Given the description of an element on the screen output the (x, y) to click on. 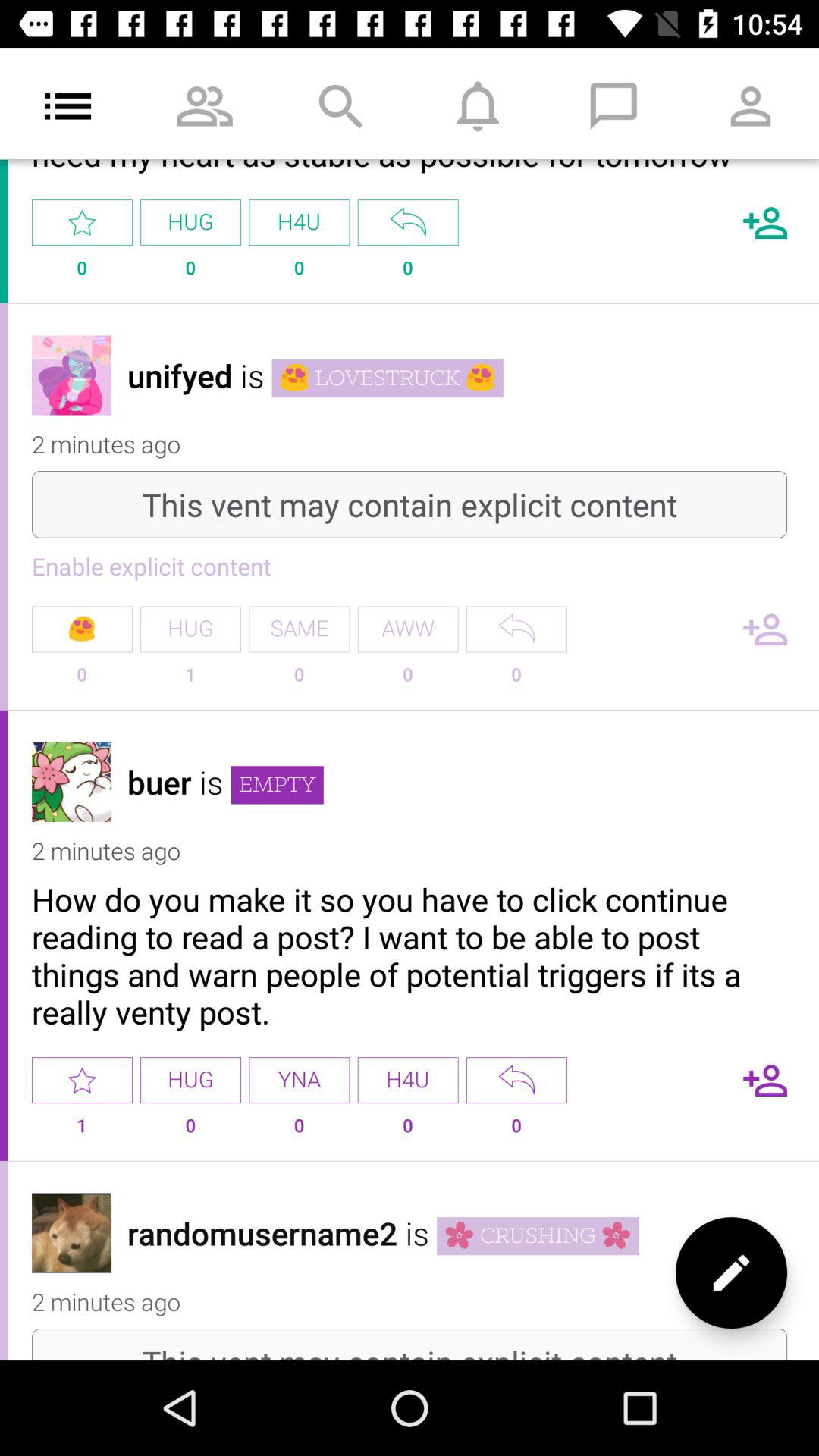
check profile (71, 375)
